Given the description of an element on the screen output the (x, y) to click on. 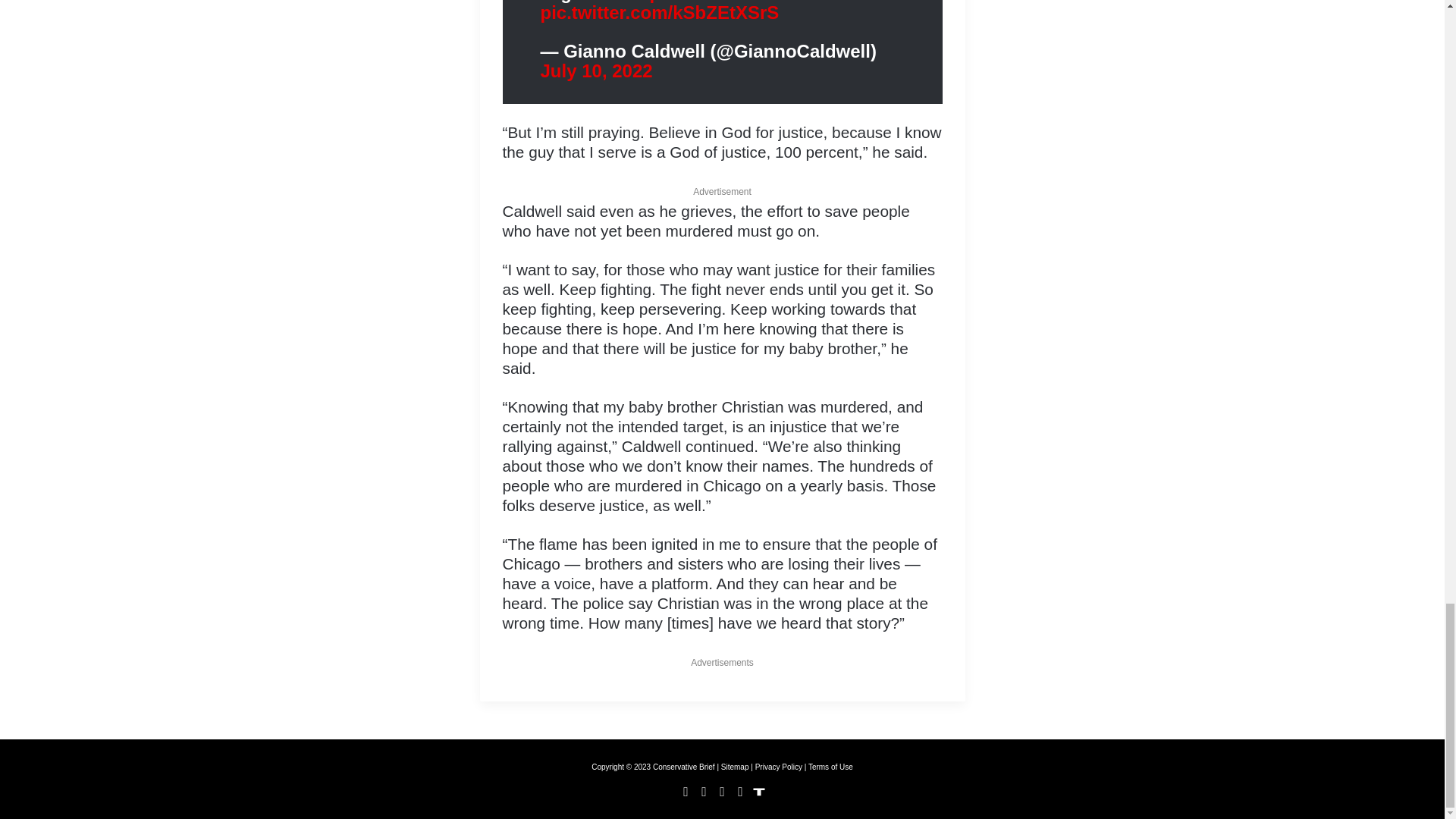
Privacy Policy (778, 766)
Truth Social (758, 791)
Facebook (685, 791)
YouTube (721, 791)
Conservative Brief (683, 766)
X (703, 791)
July 10, 2022 (596, 70)
Telegram (739, 791)
Sitemap (734, 766)
Terms of Use (830, 766)
